Given the description of an element on the screen output the (x, y) to click on. 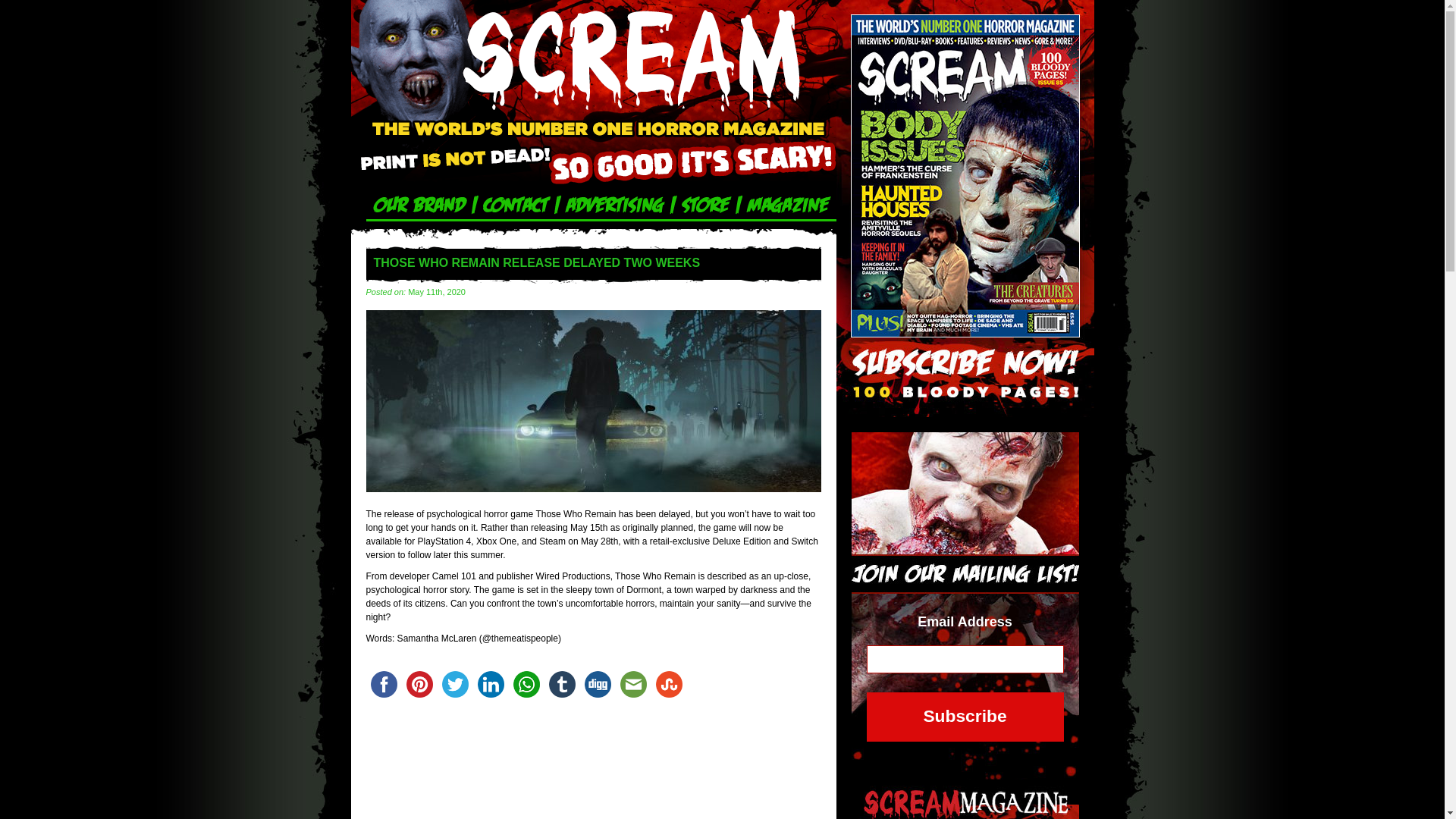
twitter (453, 683)
whatsapp (525, 683)
Subscribe (964, 717)
Subscribe (964, 717)
diggit (596, 683)
pinterest (419, 683)
THOSE WHO REMAIN RELEASE DELAYED TWO WEEKS (593, 489)
tumblr (561, 683)
linkedin (490, 683)
facebook (383, 683)
